Given the description of an element on the screen output the (x, y) to click on. 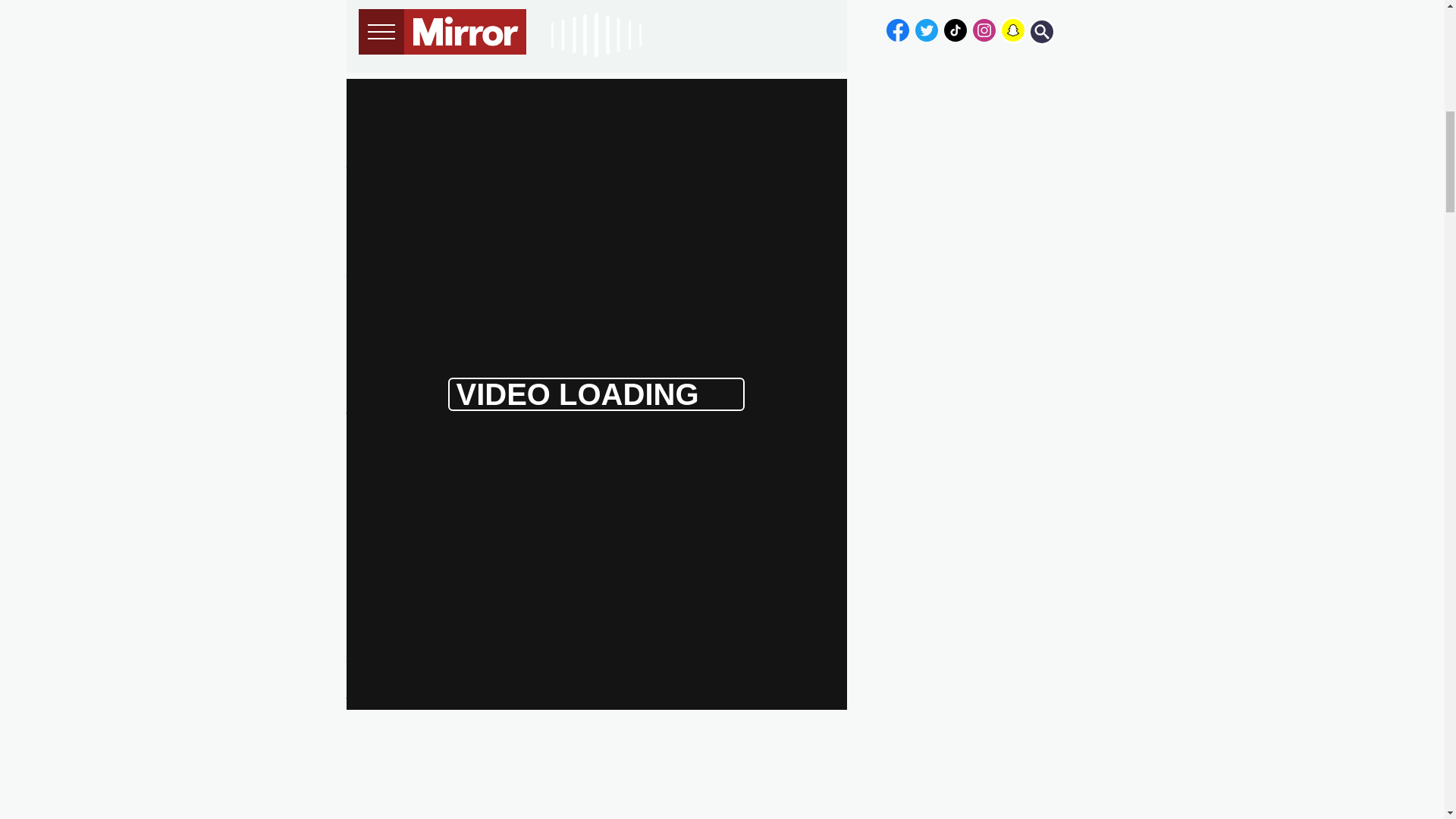
then sell him to Manchester United (539, 369)
the west Londoners (718, 169)
